Given the description of an element on the screen output the (x, y) to click on. 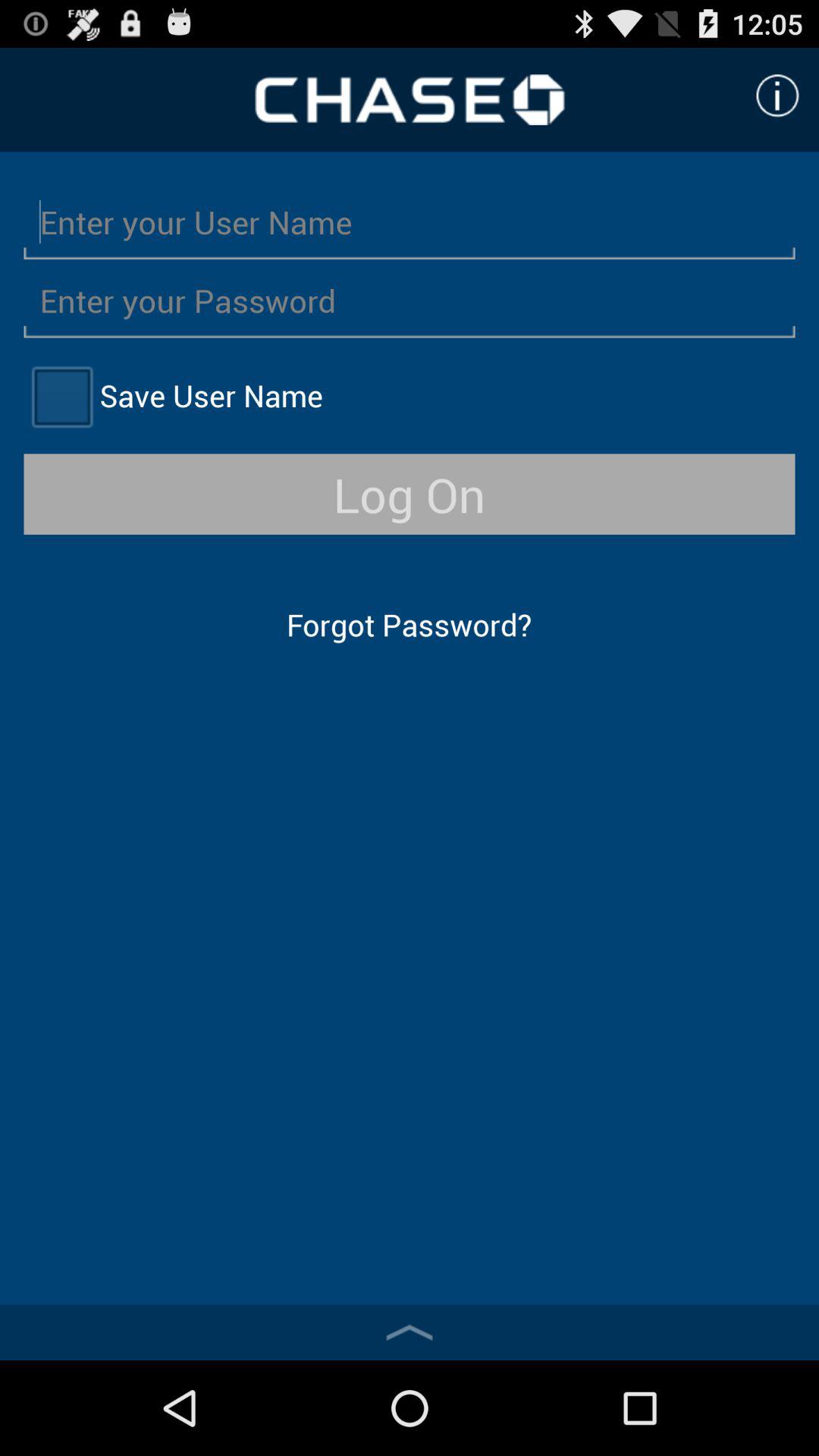
save option (61, 395)
